Given the description of an element on the screen output the (x, y) to click on. 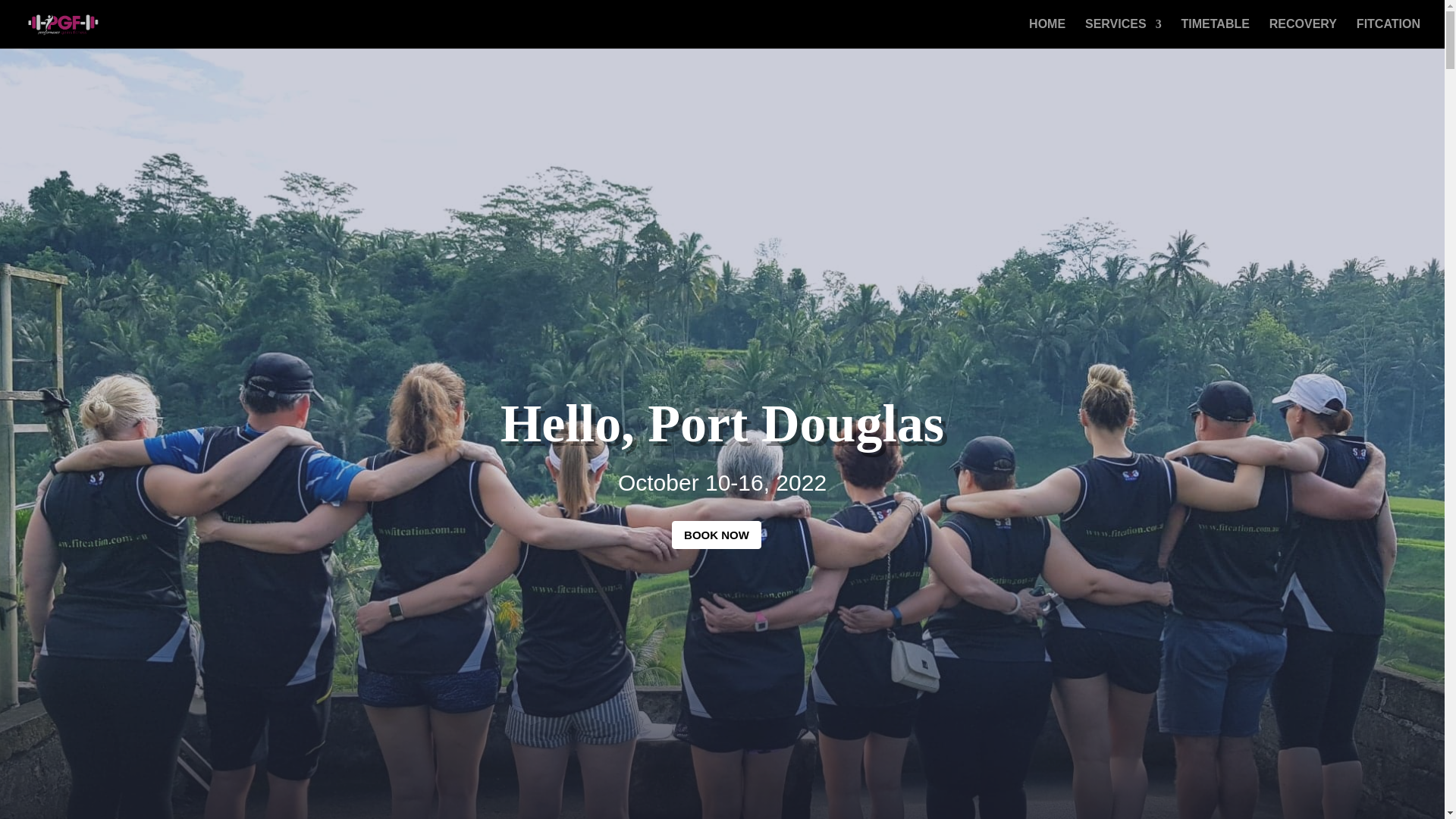
SERVICES (1122, 33)
TIMETABLE (1214, 33)
BOOK NOW (716, 534)
HOME (1047, 33)
FITCATION (1388, 33)
RECOVERY (1302, 33)
